Given the description of an element on the screen output the (x, y) to click on. 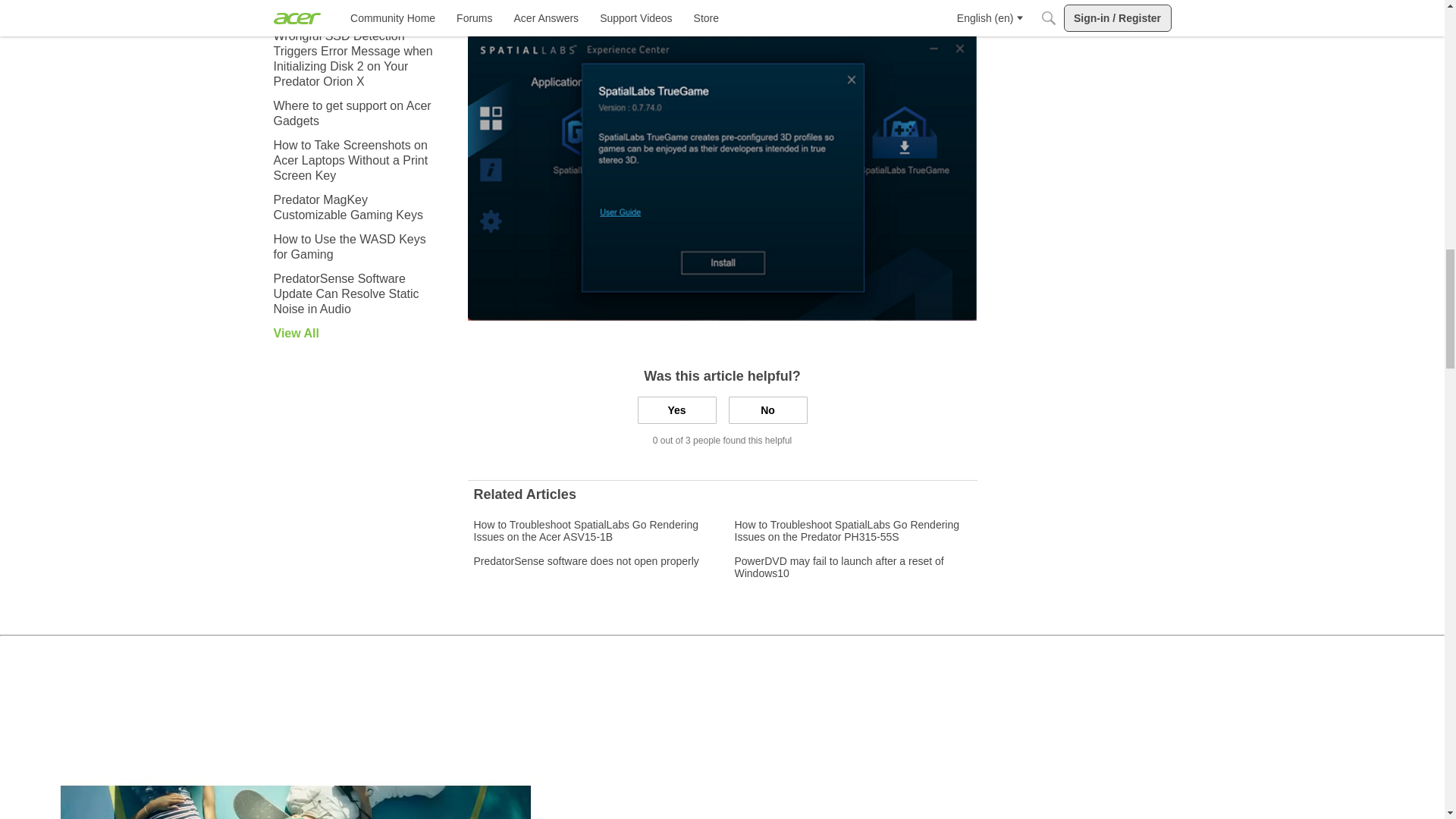
PowerDVD may fail to launch after a reset of Windows10 (852, 566)
PredatorSense software does not open properly (585, 560)
Yes (676, 410)
No (767, 410)
